Given the description of an element on the screen output the (x, y) to click on. 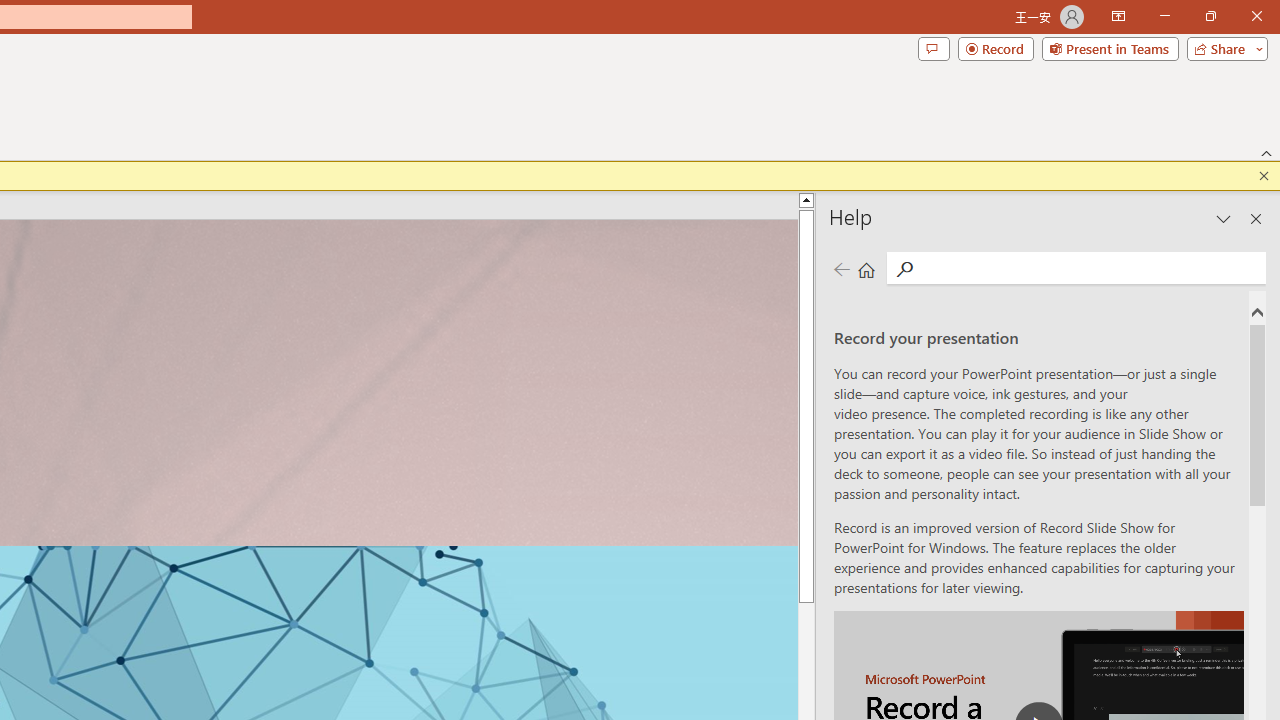
Collapse the Ribbon (1267, 152)
Restore Down (1210, 16)
